Given the description of an element on the screen output the (x, y) to click on. 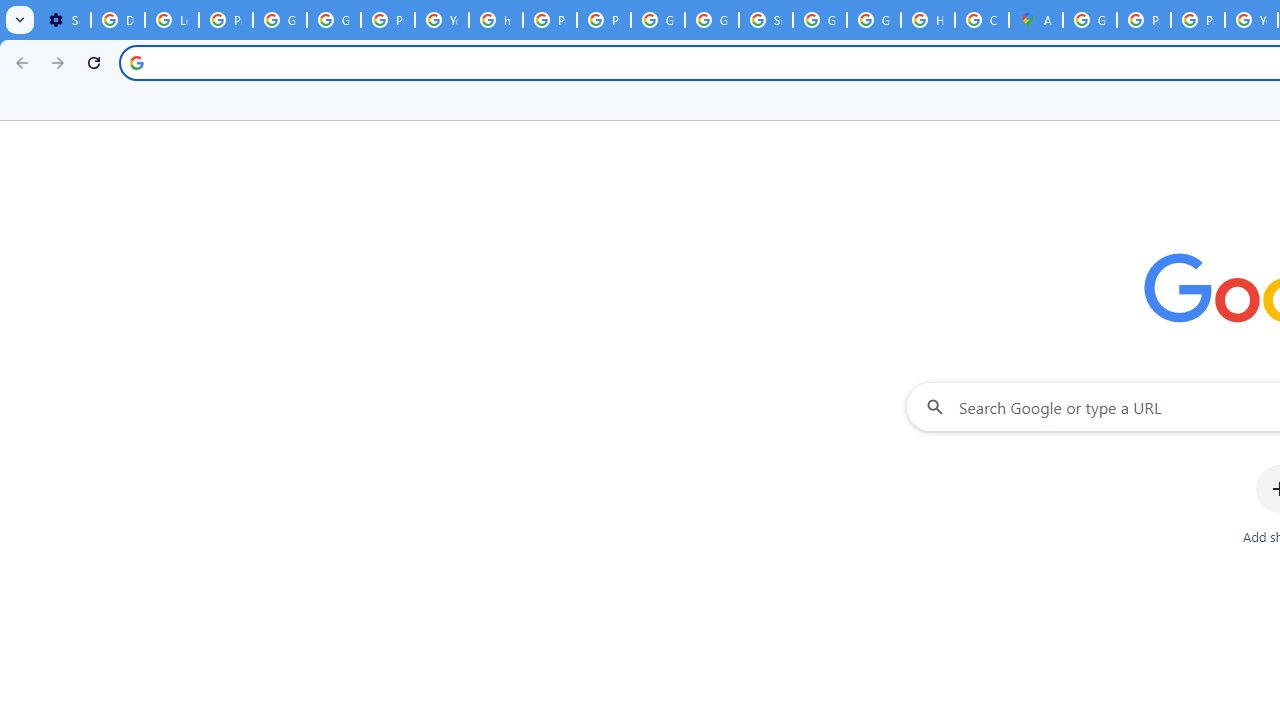
Settings - Performance (63, 20)
Create your Google Account (981, 20)
Privacy Help Center - Policies Help (550, 20)
Privacy Help Center - Policies Help (1197, 20)
Privacy Help Center - Policies Help (1144, 20)
